Given the description of an element on the screen output the (x, y) to click on. 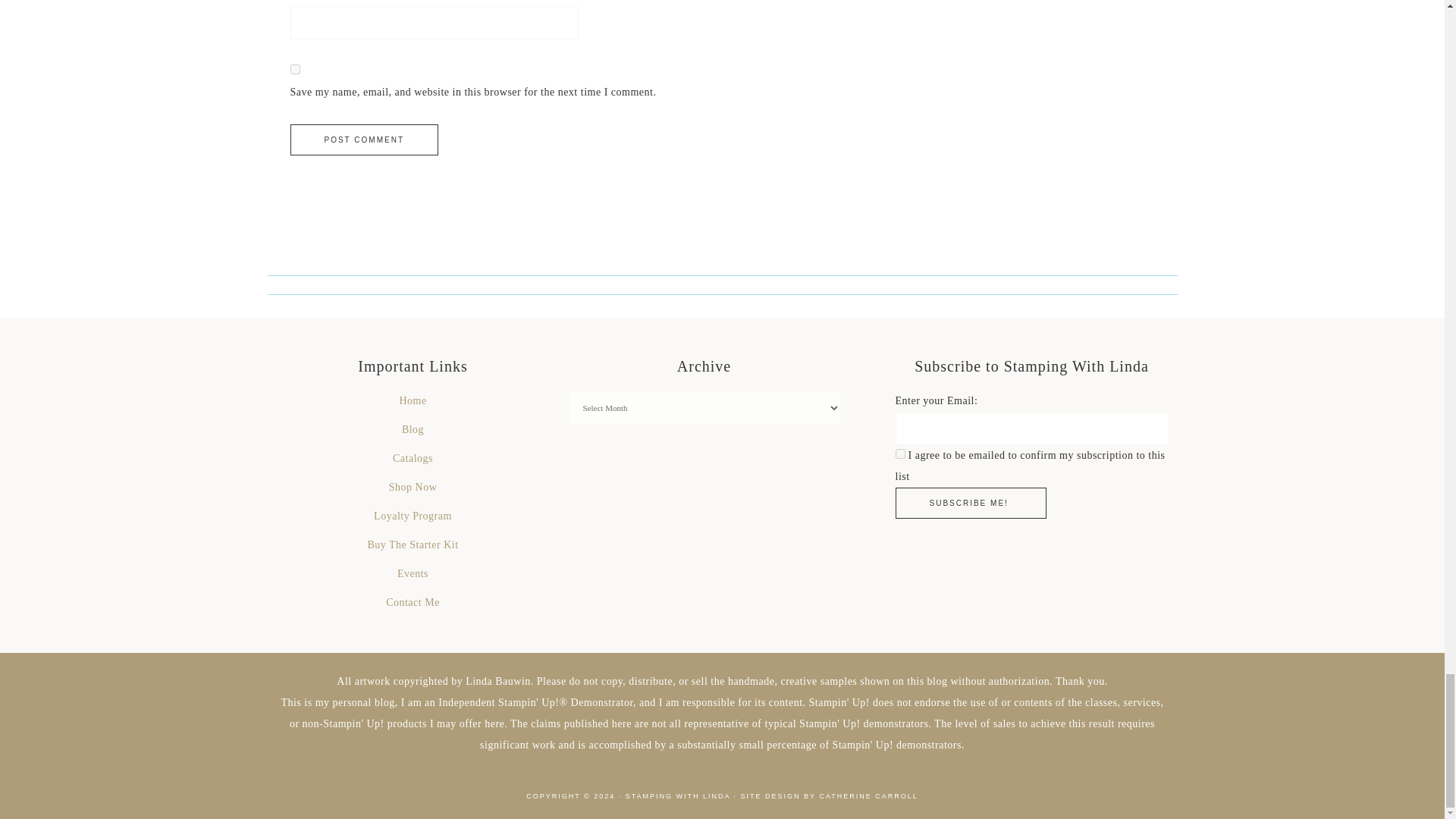
Post Comment (363, 139)
Post Comment (363, 139)
Subscribe me!  (970, 502)
on (899, 453)
yes (294, 69)
